Given the description of an element on the screen output the (x, y) to click on. 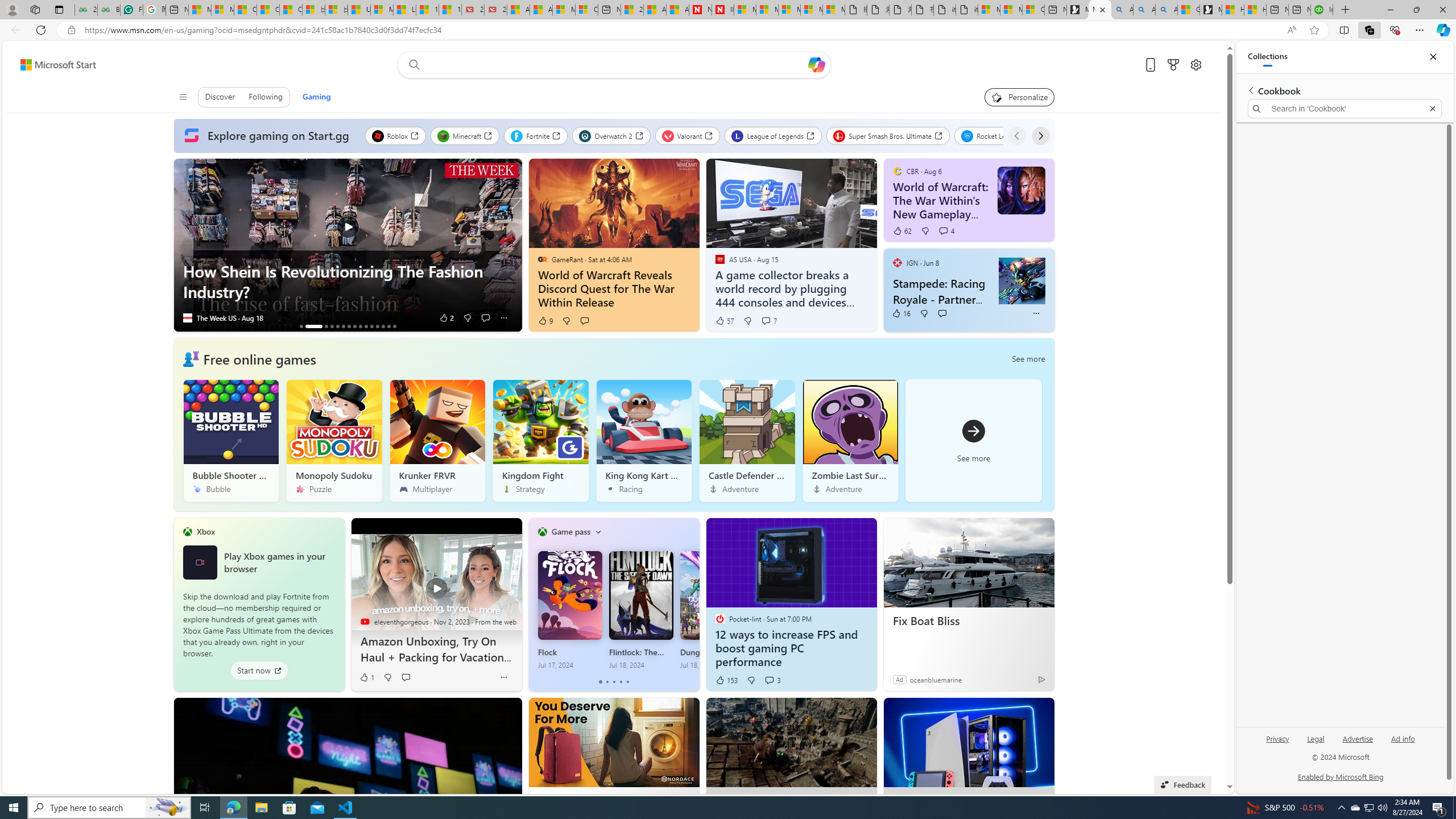
Amazon Unboxing, Try On Haul + Packing for Vacation Vlog (435, 649)
View comments 3 Comment (772, 680)
Super Smash Bros. Ultimate (888, 135)
9 Like (544, 320)
Pocket-lint (719, 618)
25 Basic Linux Commands For Beginners - GeeksforGeeks (85, 9)
How Shein Is Revolutionizing The Fashion Industry? (347, 281)
Free online games See more (613, 424)
Gaming (316, 96)
Dungeons Of Hinterberg Jul 18, 2024 (711, 610)
CBR (897, 171)
